Given the description of an element on the screen output the (x, y) to click on. 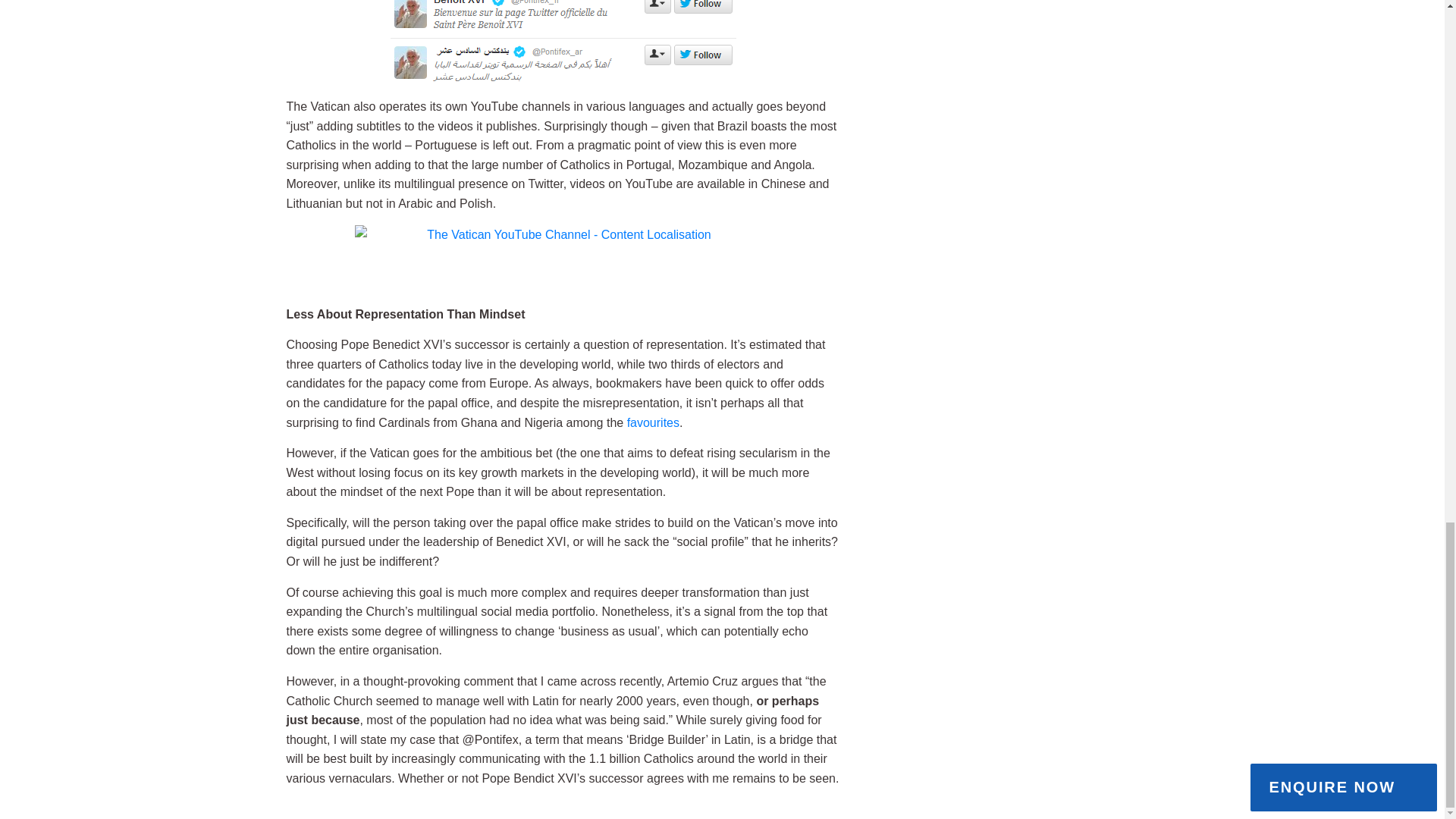
The Vatican YouTube Channel - Content Localisation (563, 259)
